Given the description of an element on the screen output the (x, y) to click on. 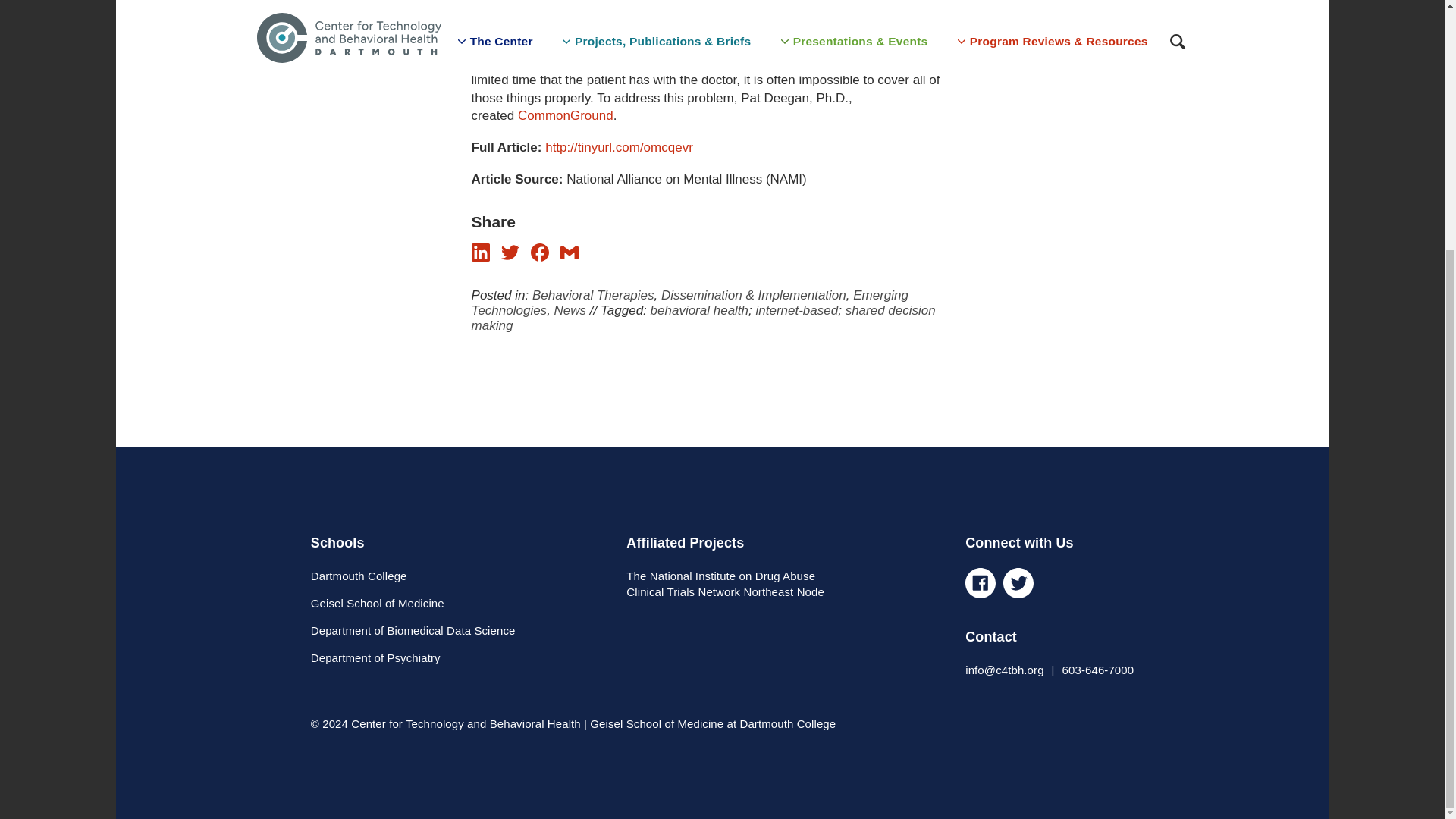
internet-based (796, 310)
Behavioral Therapies (592, 295)
Twitter (509, 252)
CommonGround (565, 115)
LinkedIn (480, 252)
Gmail (569, 252)
behavioral health (699, 310)
Gmail (569, 257)
Emerging Technologies (689, 302)
shared decision making (703, 317)
